Given the description of an element on the screen output the (x, y) to click on. 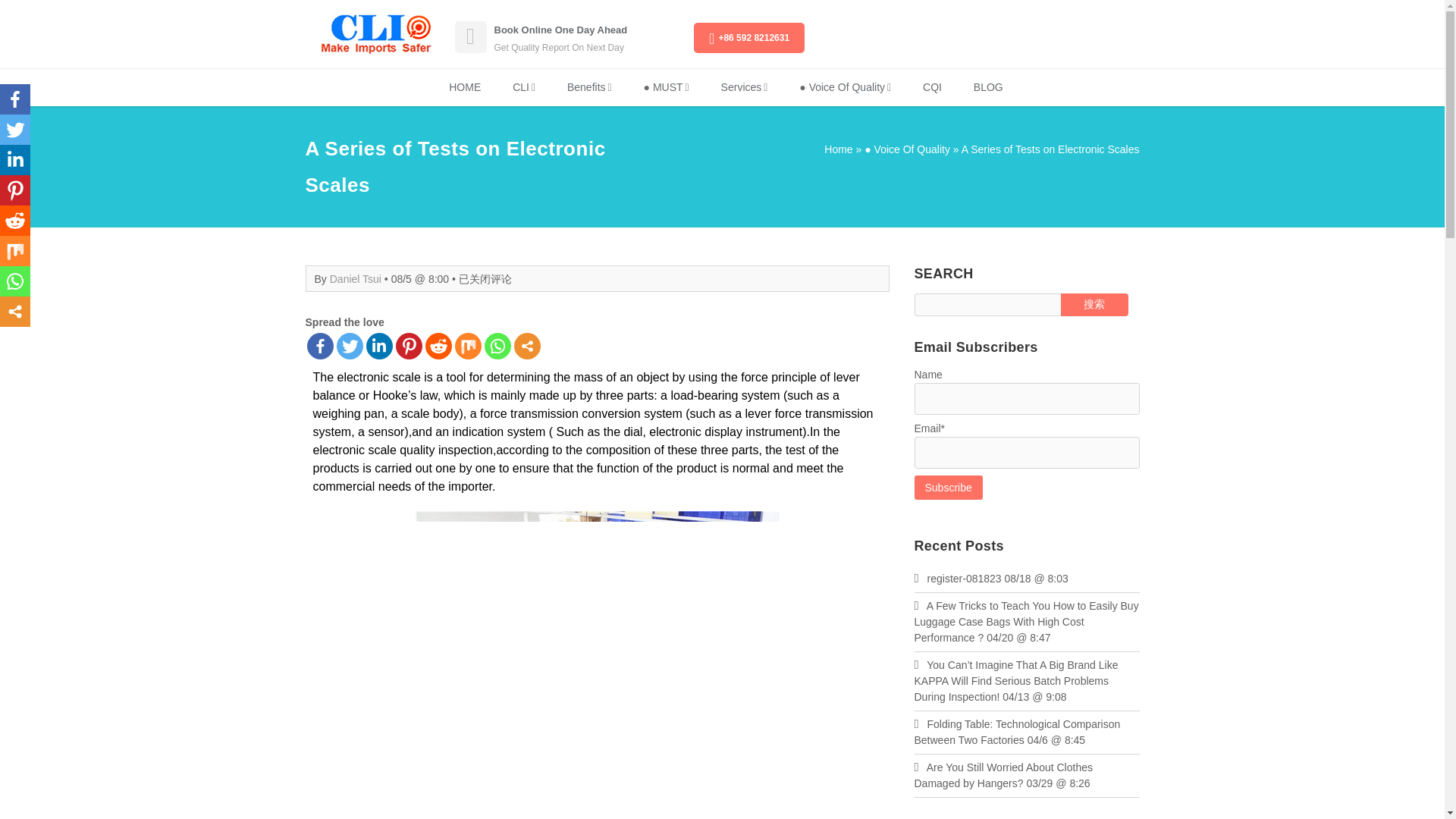
Pinterest (409, 345)
Mix (467, 345)
More (526, 345)
Twitter (15, 129)
Facebook (15, 99)
Twitter (349, 345)
HOME (465, 87)
Whatsapp (15, 281)
Subscribe (948, 487)
Reddit (15, 220)
